Given the description of an element on the screen output the (x, y) to click on. 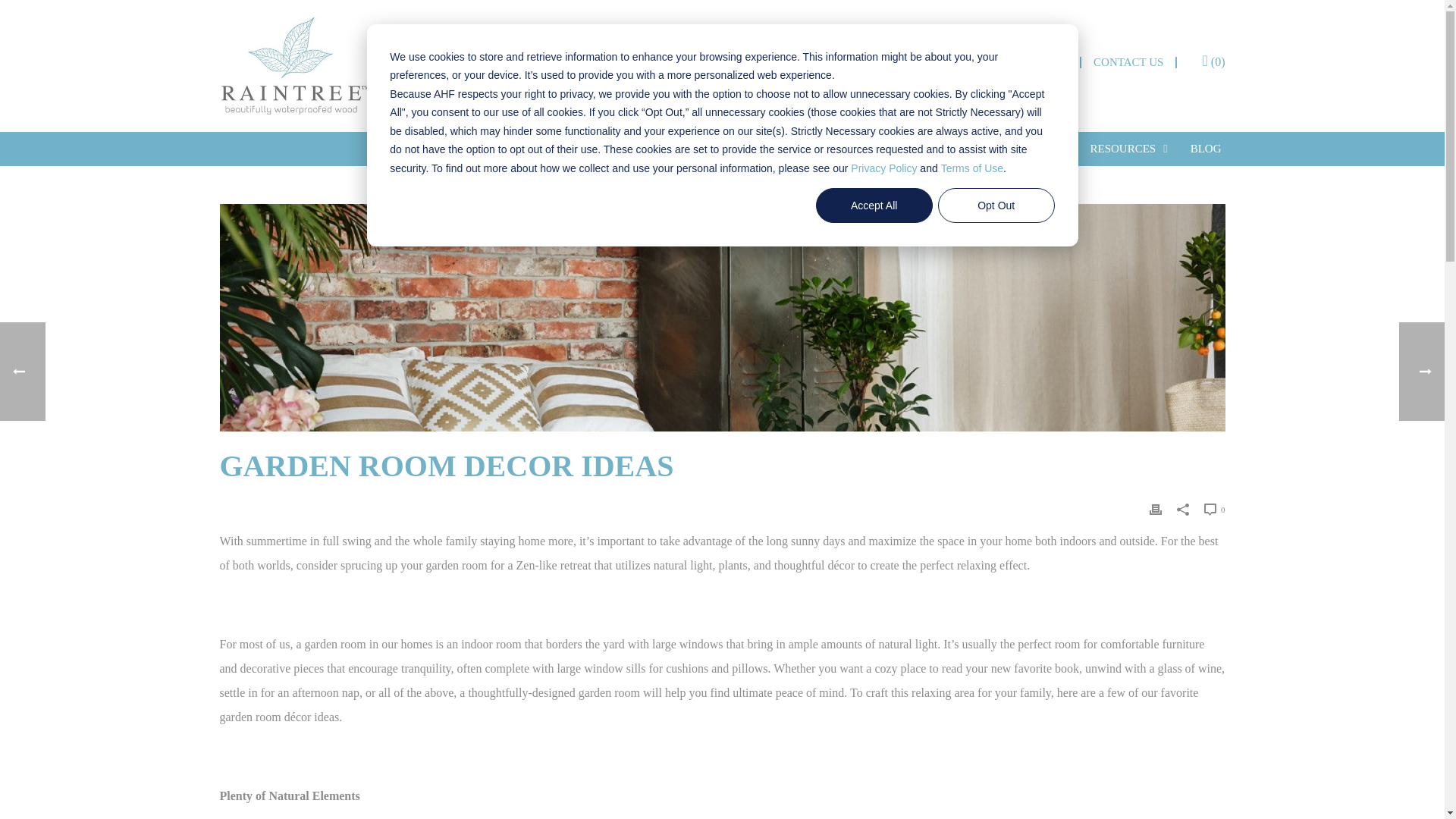
Privacy Policy (883, 168)
GALLERY (1035, 148)
DEALER LOCATOR (941, 61)
FLOORING BENEFITS (923, 148)
new-logo (295, 66)
BLOG (1205, 148)
Terms of Use (971, 168)
WATERPROOF HARDWOOD (771, 148)
RESOURCES (1127, 148)
REVIEWS (1042, 61)
CONTACT US (1128, 61)
